Given the description of an element on the screen output the (x, y) to click on. 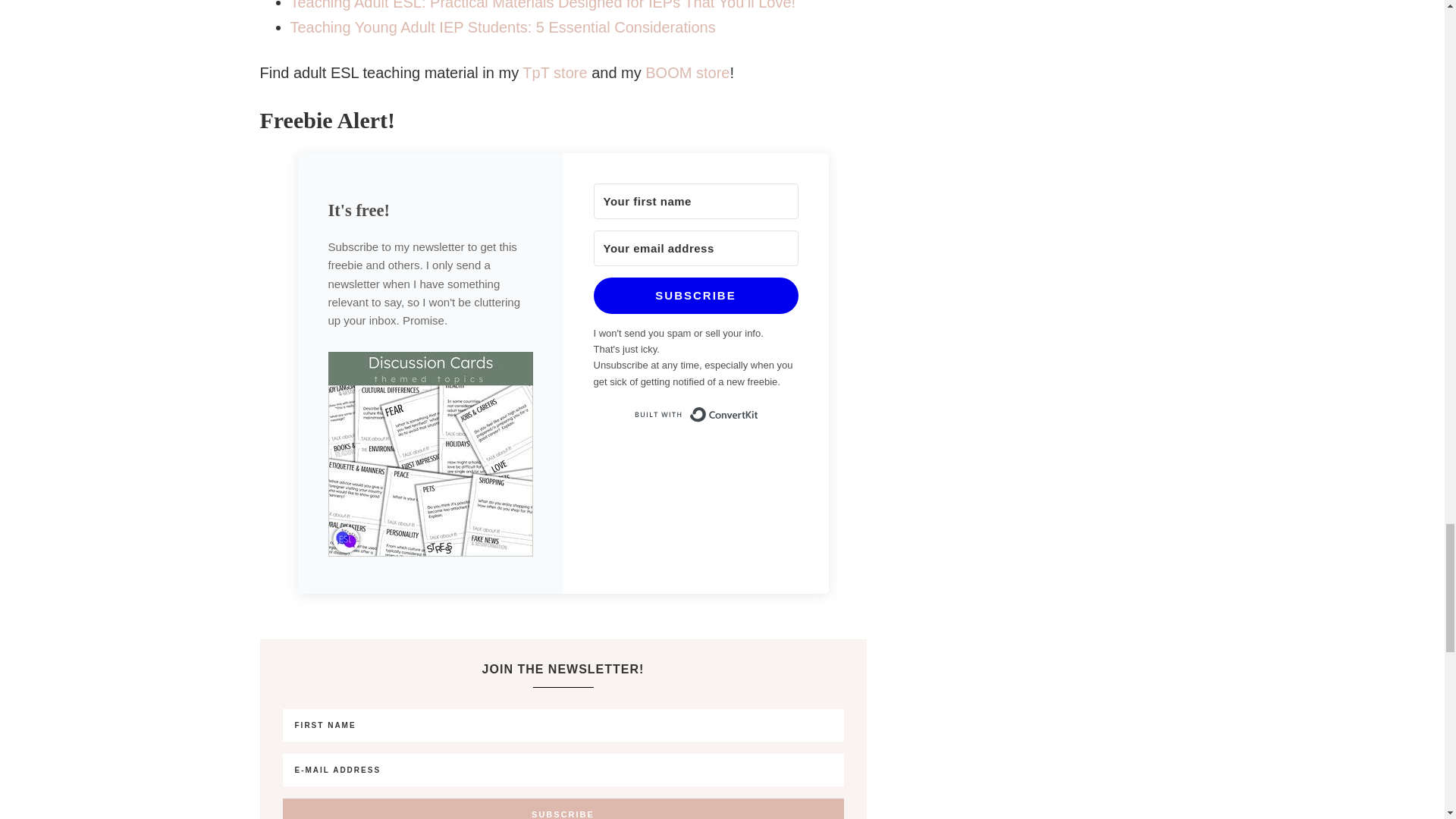
BOOM store (687, 72)
Built with ConvertKit (694, 414)
Subscribe (562, 808)
Subscribe (562, 808)
TpT store (554, 72)
SUBSCRIBE (694, 295)
